Given the description of an element on the screen output the (x, y) to click on. 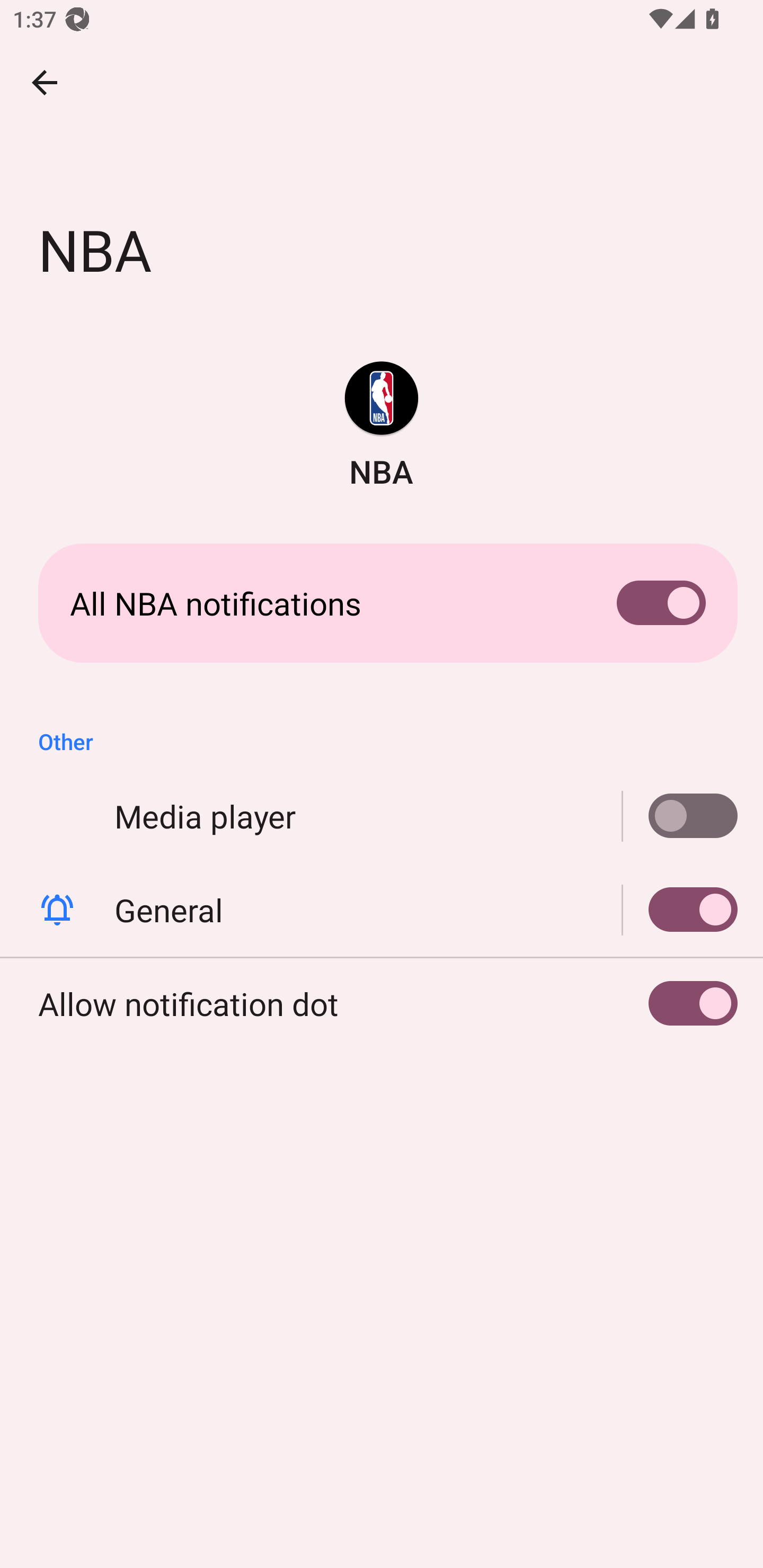
Navigate up (44, 82)
NBA (381, 426)
All NBA notifications (381, 602)
Media player (381, 815)
Media player (680, 815)
General (381, 909)
General (680, 909)
Allow notification dot (381, 1003)
